Given the description of an element on the screen output the (x, y) to click on. 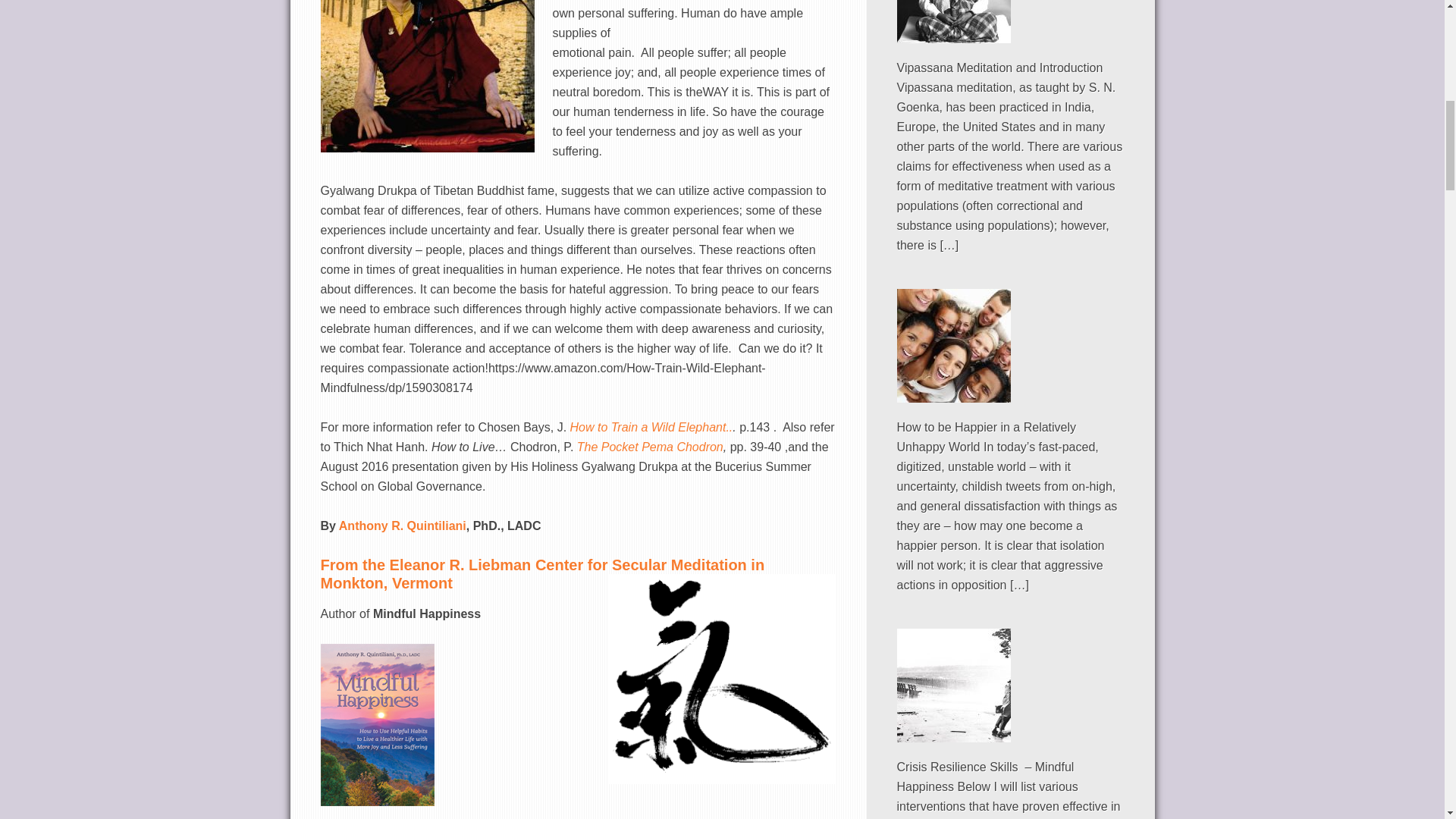
The Pocket Pema Chodron (649, 446)
How to Train a Wild Elephant.. (651, 427)
 Anthony R. Quintiliani (400, 525)
The Eleanor R. Liebman Center (542, 573)
Dr Anthony Quintiliani (400, 525)
